Given the description of an element on the screen output the (x, y) to click on. 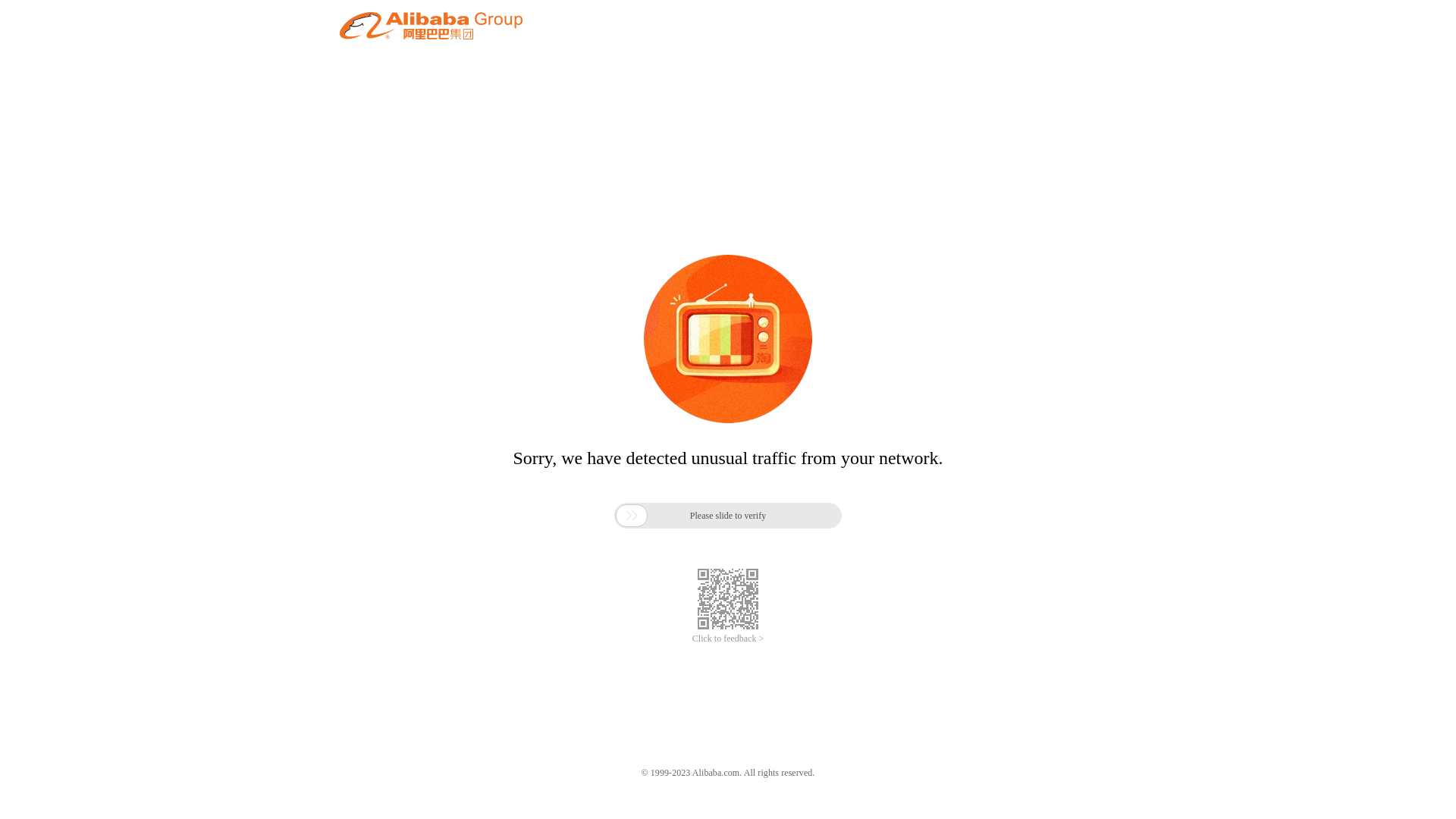
Click to feedback > Element type: text (727, 638)
